Given the description of an element on the screen output the (x, y) to click on. 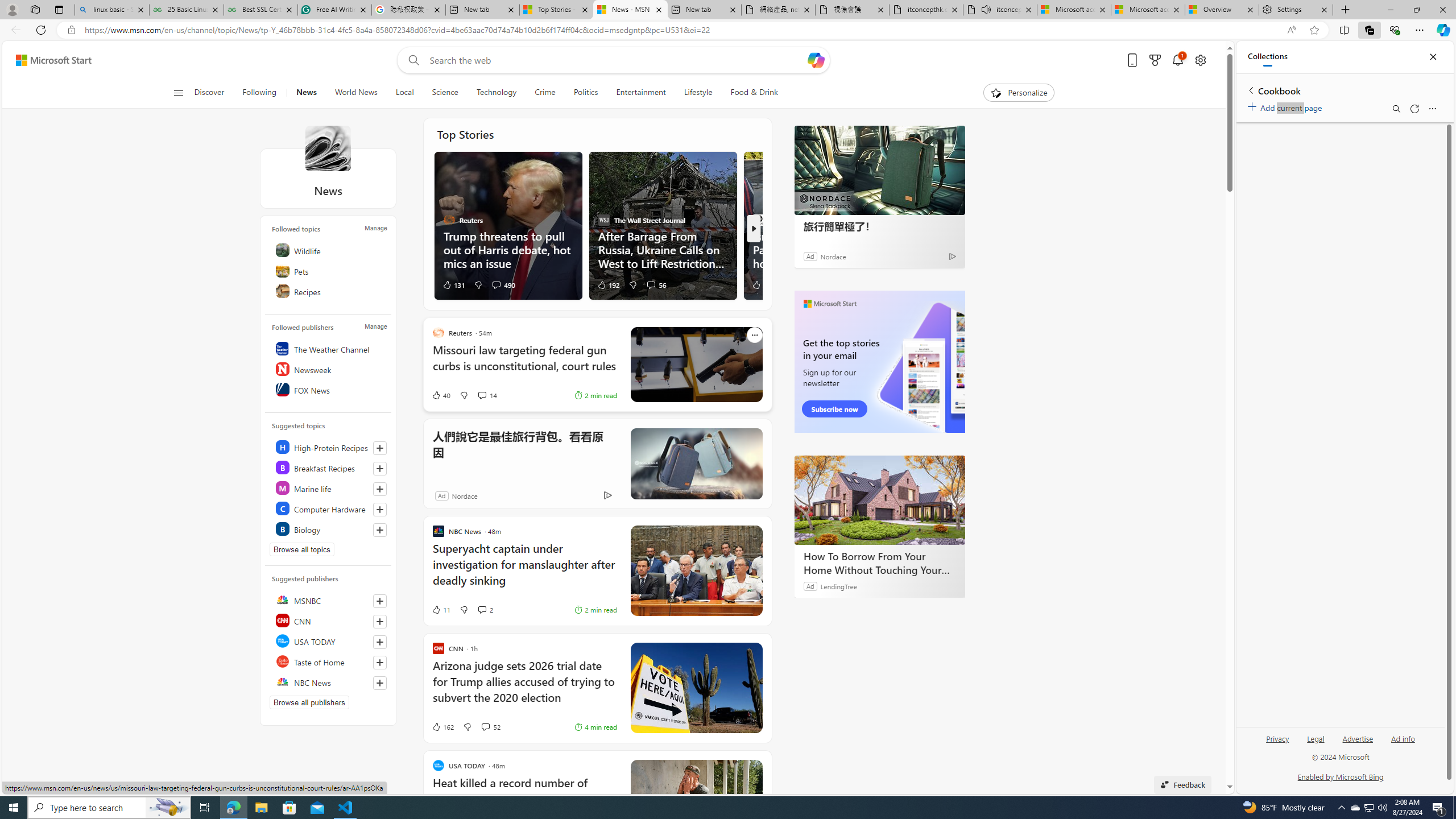
Taste of Home (328, 661)
11 Like (440, 609)
View comments 56 Comment (650, 284)
MSNBC (328, 600)
Add current page (1286, 105)
